Given the description of an element on the screen output the (x, y) to click on. 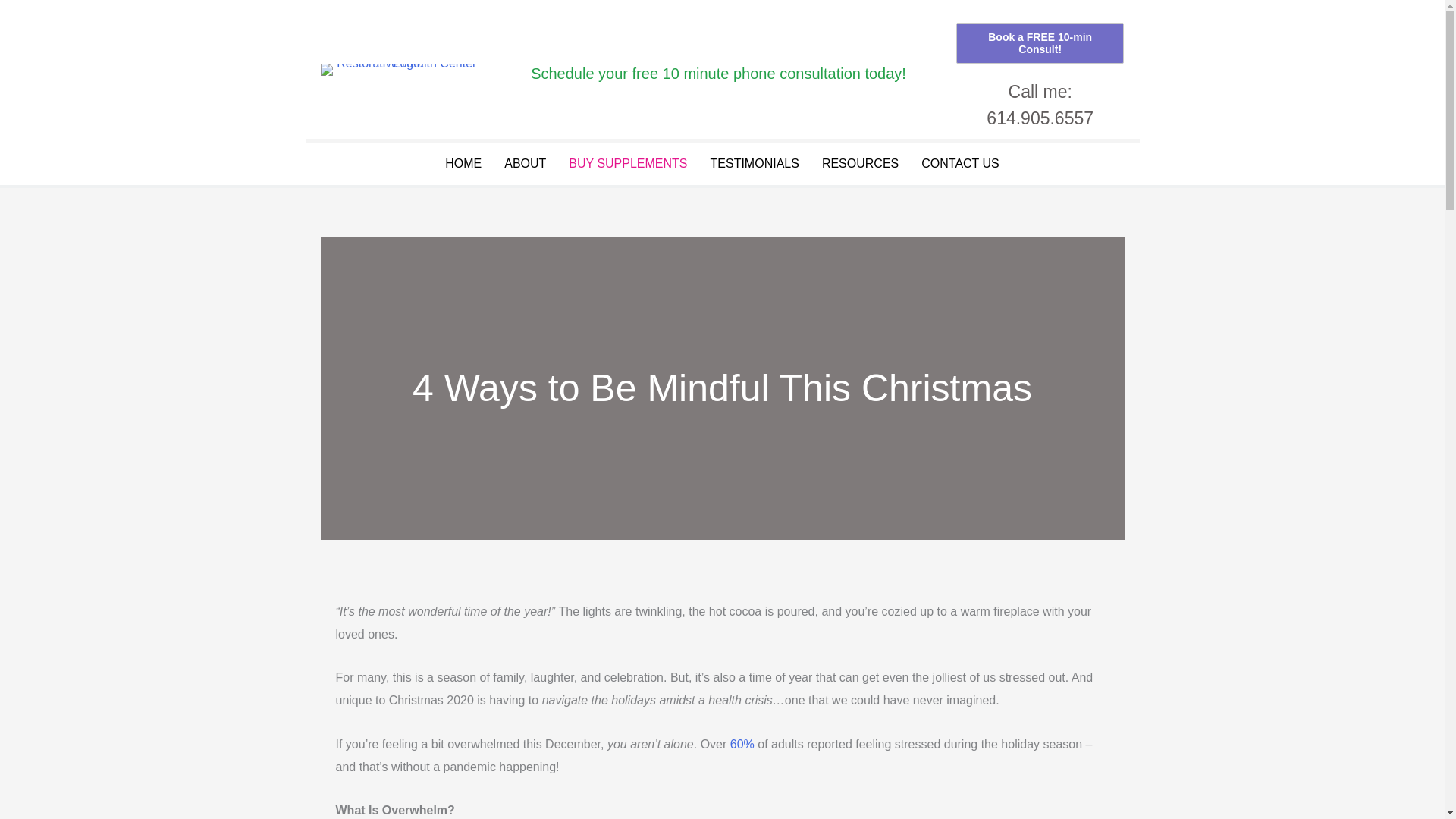
HOME (463, 163)
CONTACT US (960, 163)
Book a FREE 10-min Consult! (1040, 42)
Restorative-Health-Center-Logo (400, 69)
ABOUT (525, 163)
TESTIMONIALS (754, 163)
RESOURCES (860, 163)
BUY SUPPLEMENTS (627, 163)
